Given the description of an element on the screen output the (x, y) to click on. 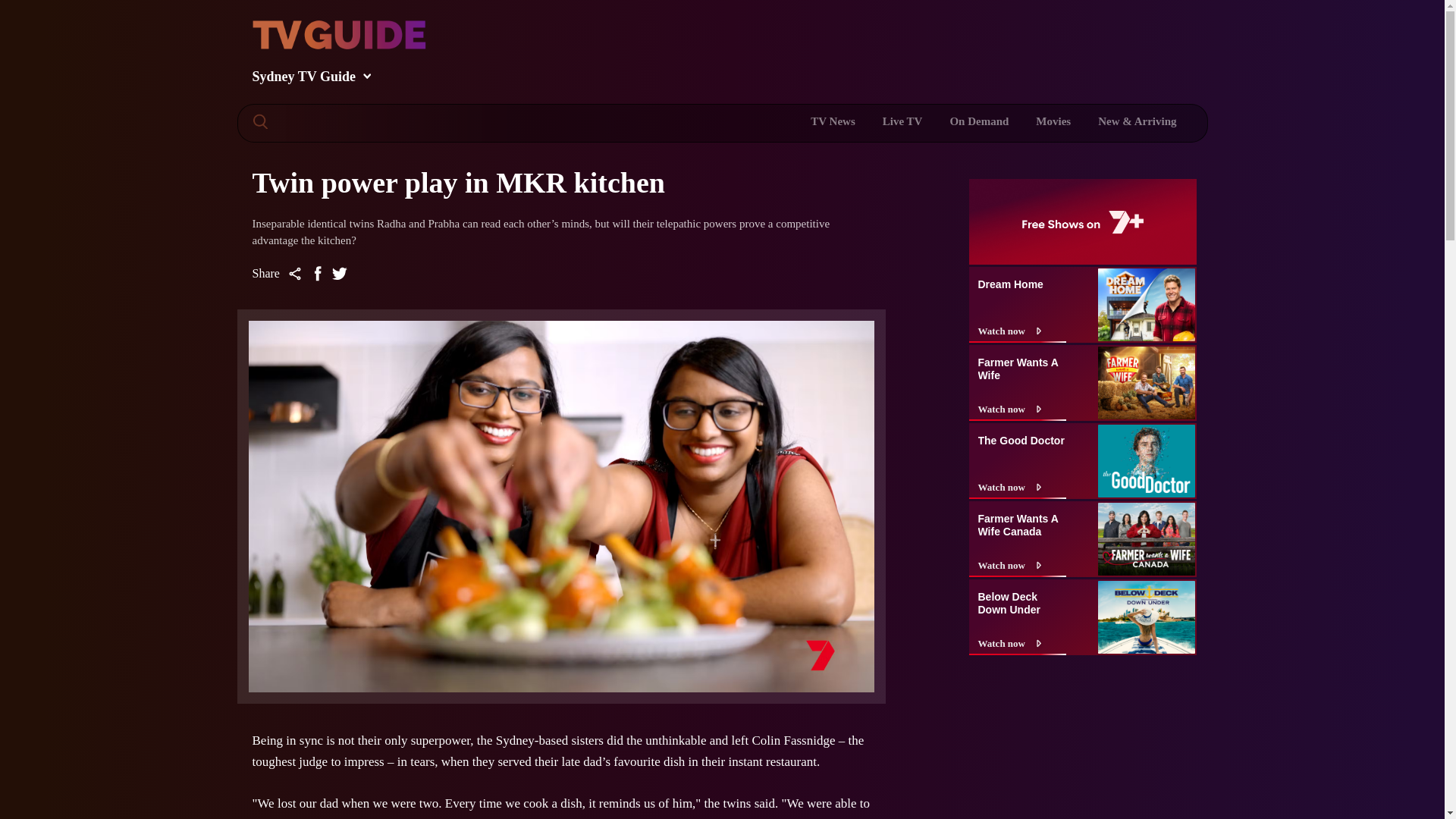
Dream Home (1022, 279)
Live TV (902, 121)
Watch now (1020, 330)
Watch now (1020, 565)
home (931, 43)
TV News (832, 121)
On Demand (979, 121)
Movies (1052, 121)
Farmer Wants A Wife (1022, 364)
Below Deck Down Under (1022, 598)
Farmer Wants A Wife Canada (1022, 520)
The Good Doctor (1022, 436)
Watch now (1020, 487)
Watch now (1020, 409)
Watch now (1020, 643)
